Given the description of an element on the screen output the (x, y) to click on. 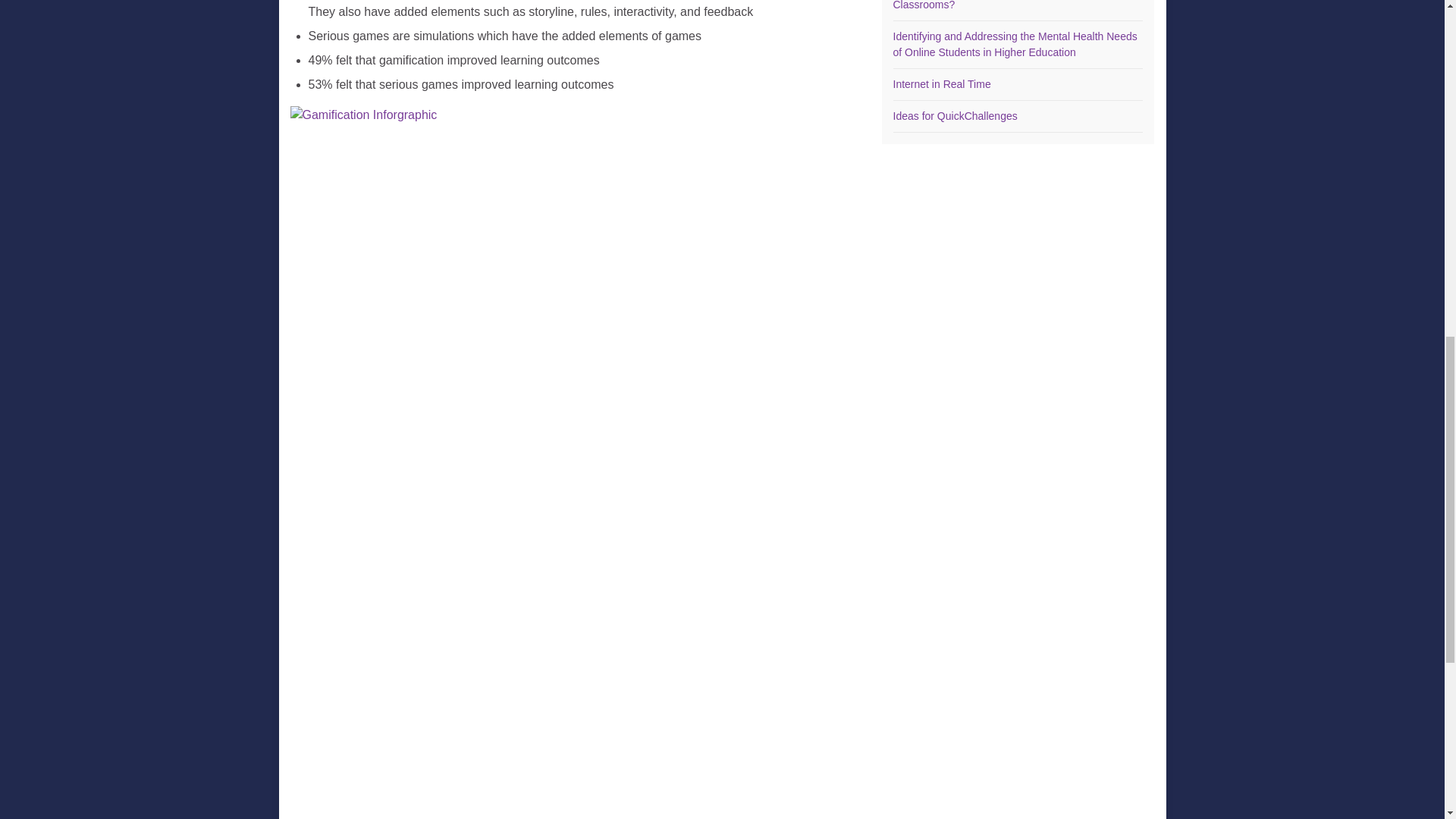
Internet in Real Time (942, 83)
Edudemic: What Does Gamification Look Like In Classrooms? (1007, 5)
Ideas for QuickChallenges (955, 115)
